Given the description of an element on the screen output the (x, y) to click on. 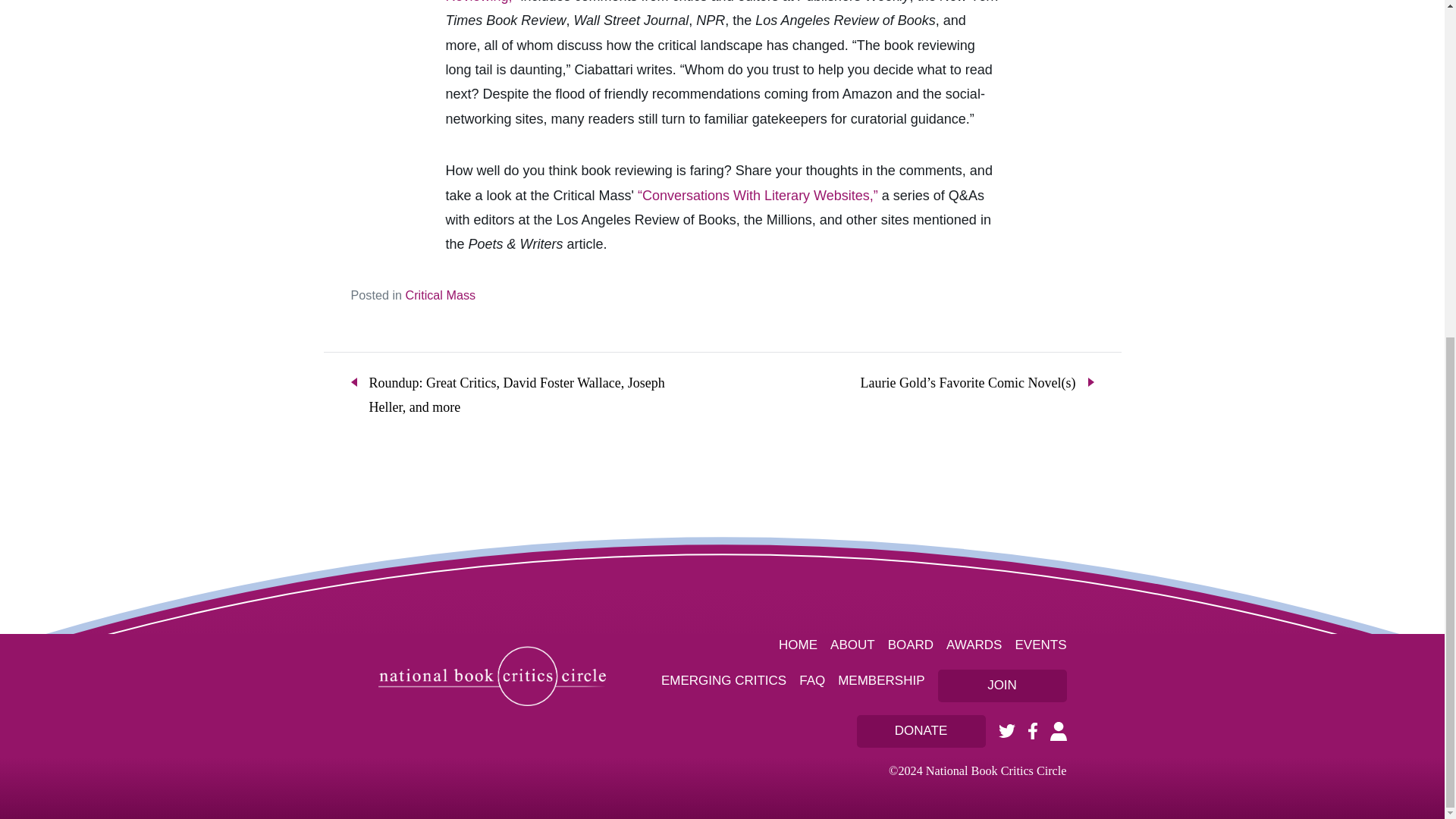
HOME (797, 645)
Critical Mass (440, 295)
